Given the description of an element on the screen output the (x, y) to click on. 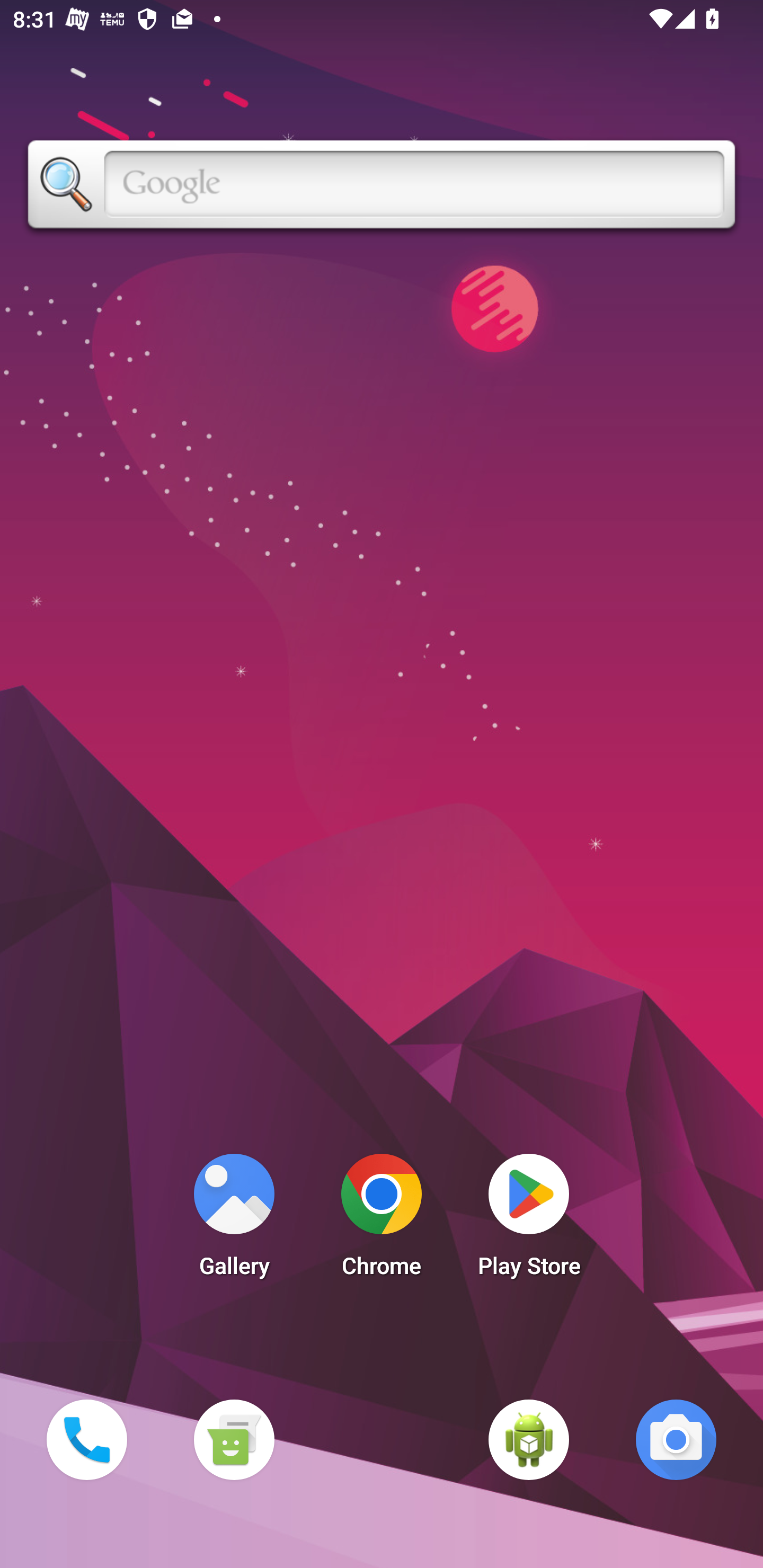
Gallery (233, 1220)
Chrome (381, 1220)
Play Store (528, 1220)
Phone (86, 1439)
Messaging (233, 1439)
WebView Browser Tester (528, 1439)
Camera (676, 1439)
